Given the description of an element on the screen output the (x, y) to click on. 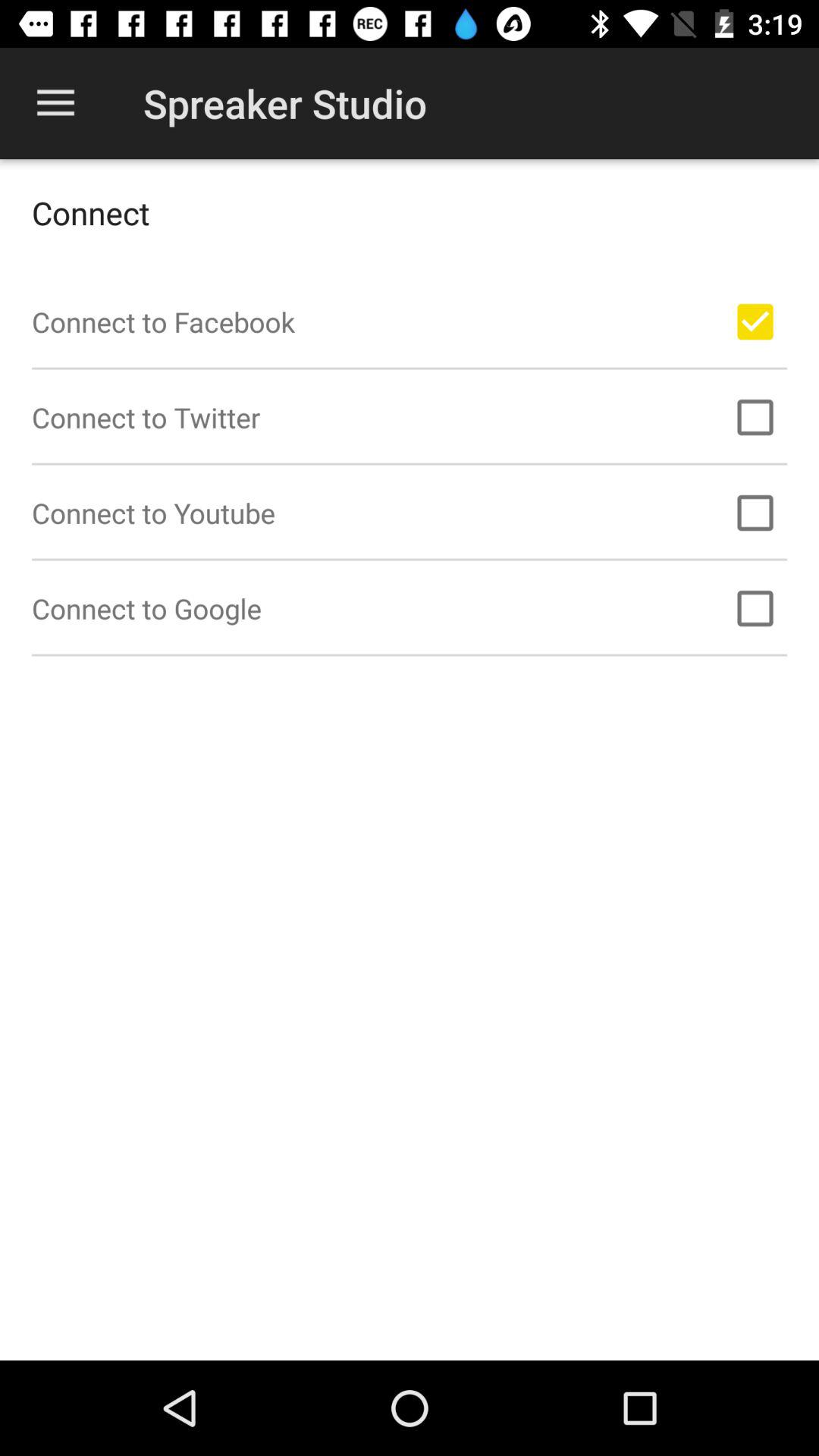
tap icon to the left of spreaker studio (55, 103)
